Given the description of an element on the screen output the (x, y) to click on. 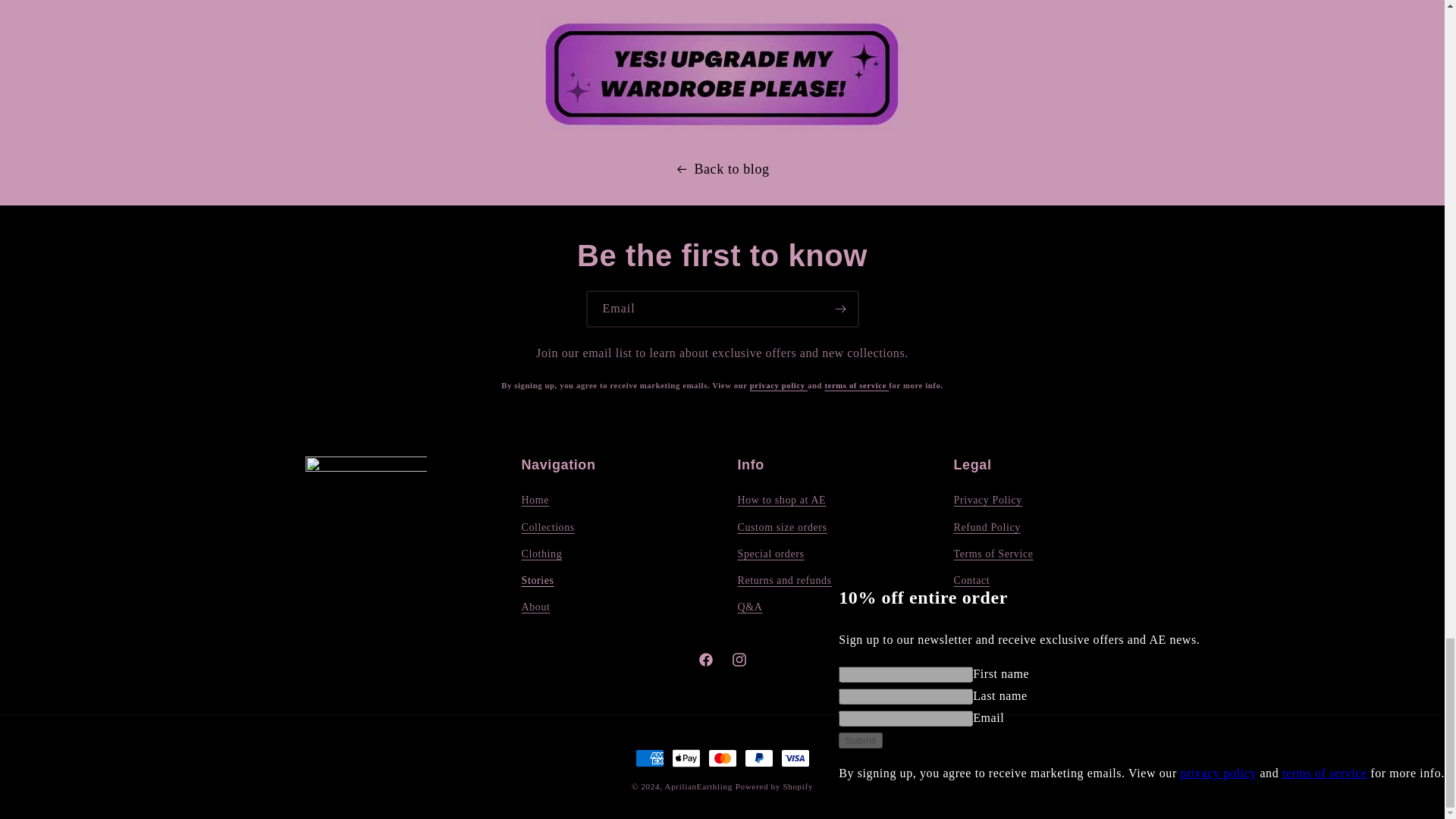
aprilianearthling-privacy-policy (778, 384)
aprilianearthling-terms (856, 384)
PSYCHOPOMP (722, 102)
